Given the description of an element on the screen output the (x, y) to click on. 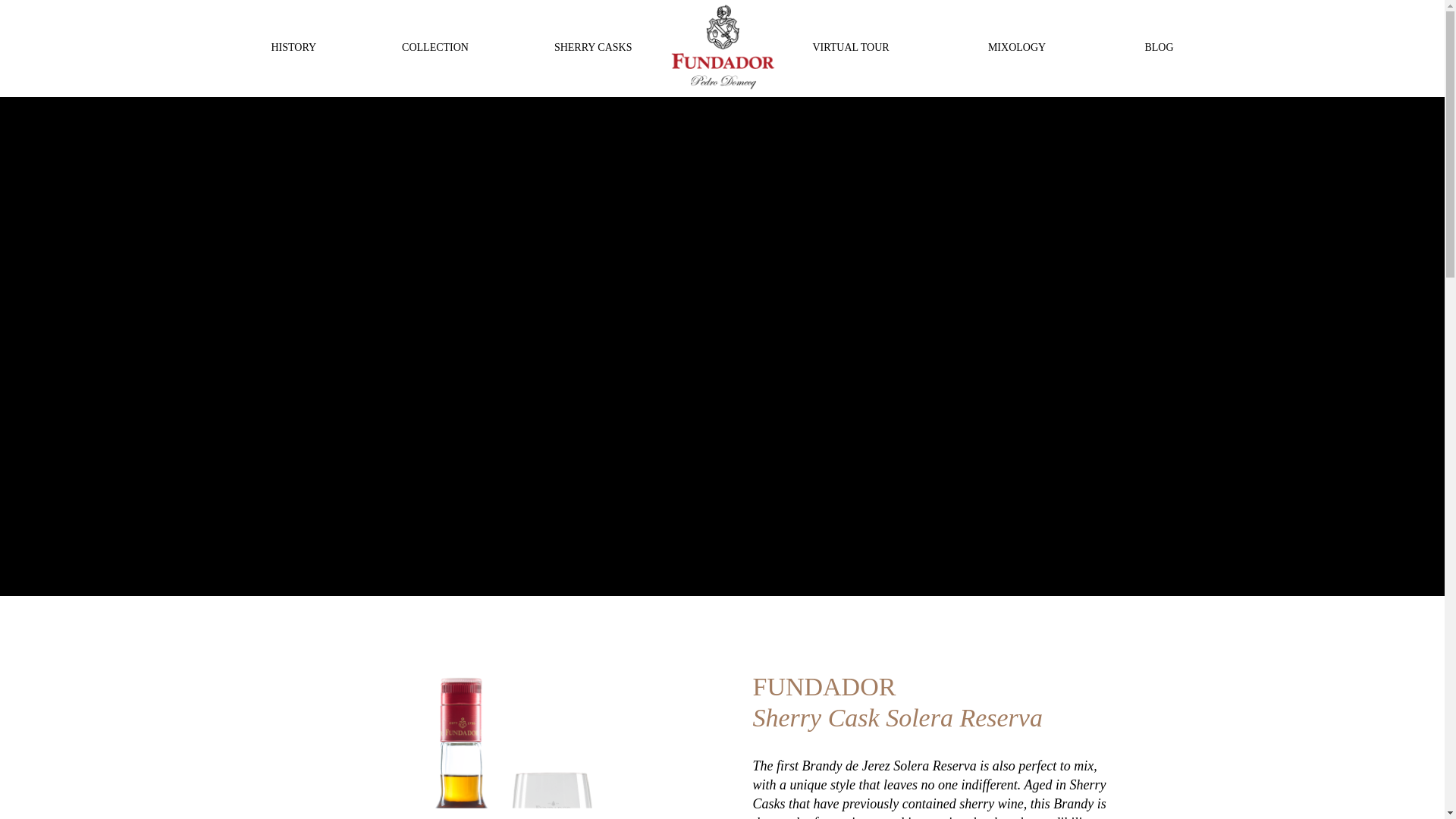
MIXOLOGY (1016, 48)
BLOG (1158, 48)
SHERRY CASKS (592, 48)
SHERRY CASK COLLECTION (461, 70)
VIRTUAL TOUR (850, 48)
HISTORY (293, 48)
COLLECTION (434, 48)
